Given the description of an element on the screen output the (x, y) to click on. 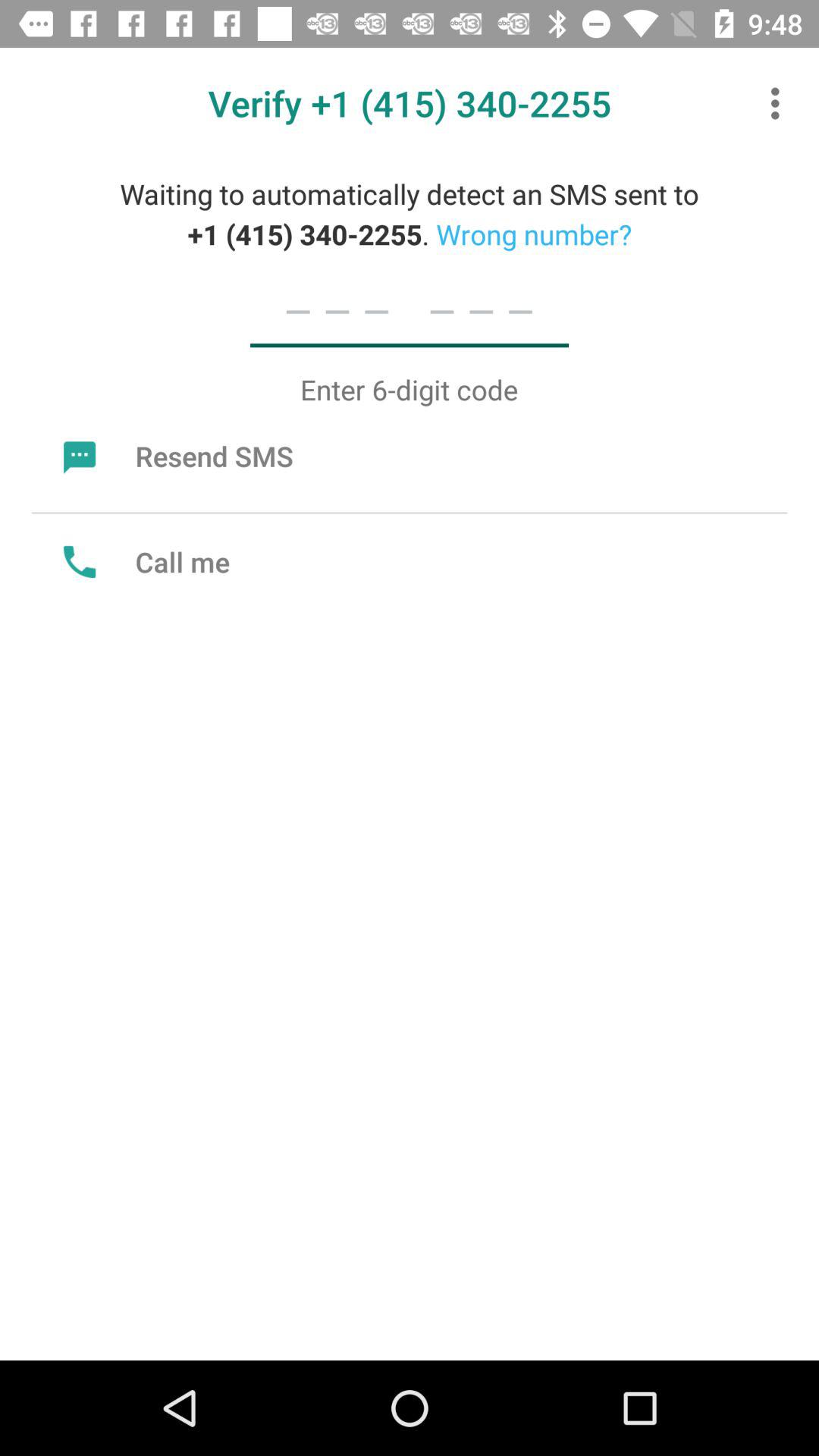
scroll until resend sms (174, 455)
